Given the description of an element on the screen output the (x, y) to click on. 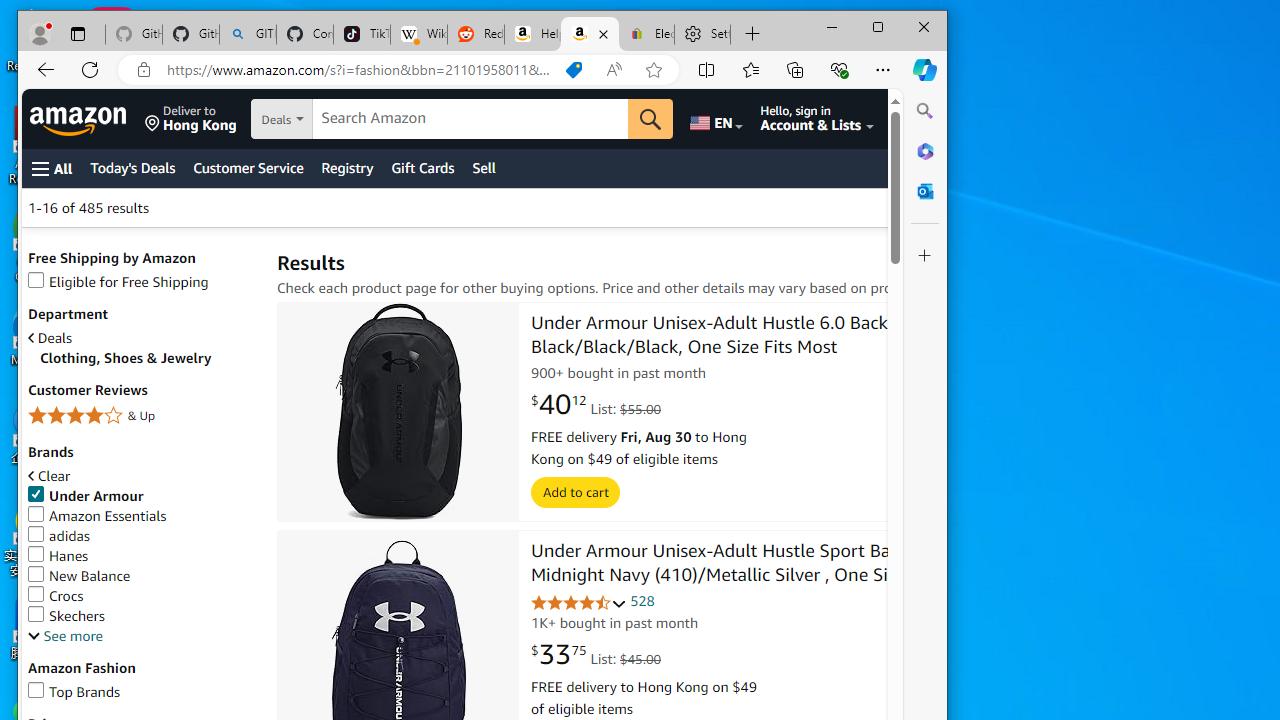
Amazon.com (589, 34)
New Balance (79, 575)
Returns & Orders (921, 119)
Deliver to Hong Kong (190, 119)
Top Brands (142, 692)
4 Stars & Up& Up (142, 417)
Hello, sign in Account & Lists (817, 119)
